Given the description of an element on the screen output the (x, y) to click on. 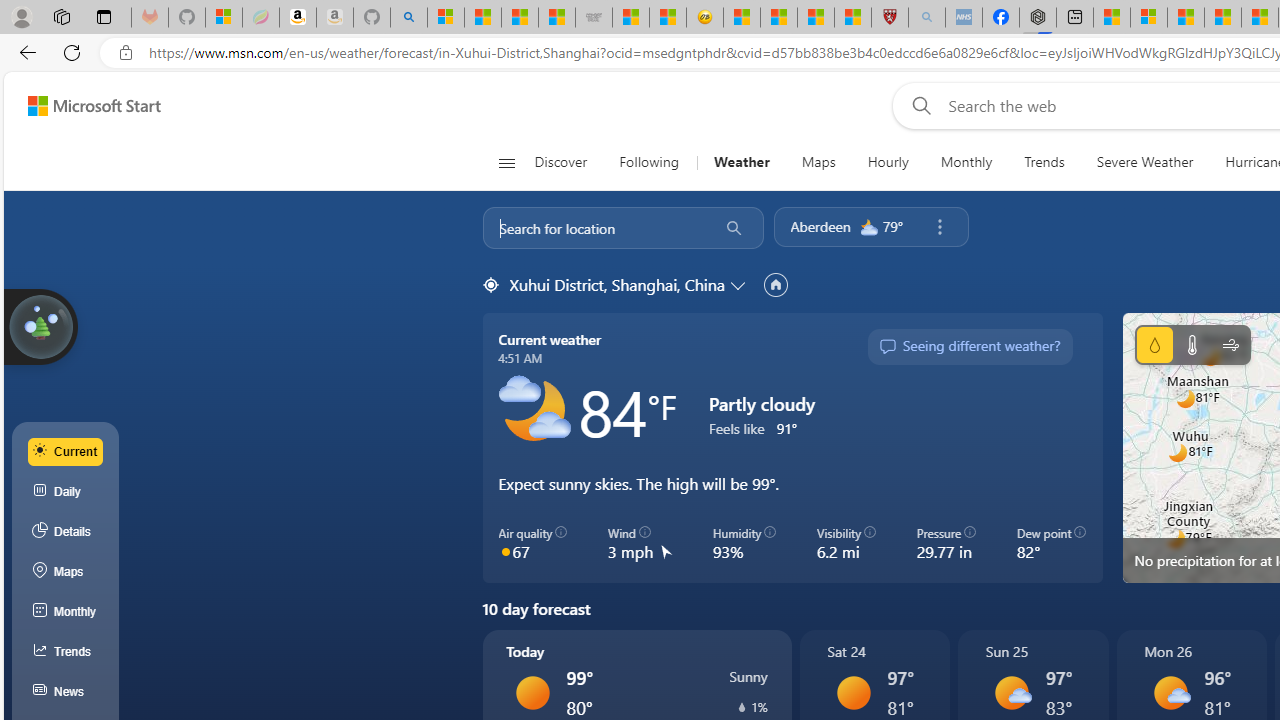
Seeing different weather? (969, 347)
Combat Siege (593, 17)
Weather (741, 162)
Following (649, 162)
Humidity 93% (743, 543)
Microsoft-Report a Concern to Bing (223, 17)
Monthly (966, 162)
Maps (818, 162)
Hourly (888, 162)
Visibility 6.2 mi (845, 543)
Microsoft account | Privacy (1149, 17)
News (65, 692)
Trends (1044, 162)
